Given the description of an element on the screen output the (x, y) to click on. 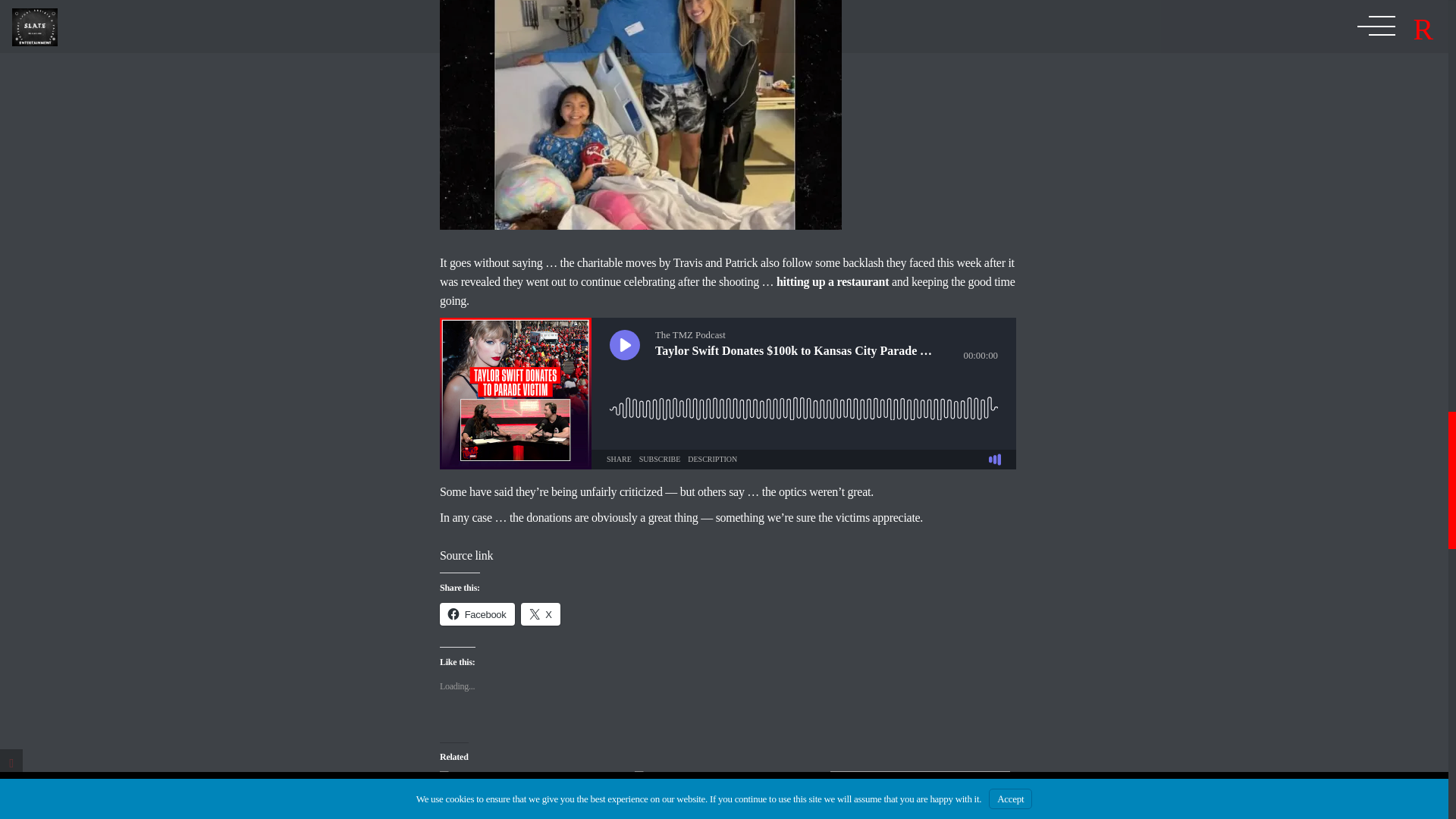
Click to share on Facebook (477, 613)
hitting up a restaurant (832, 281)
Click to share on X (540, 613)
X (540, 613)
Travis Kelce Reacts to Tragedy (529, 795)
Source link (466, 554)
Facebook (477, 613)
